Given the description of an element on the screen output the (x, y) to click on. 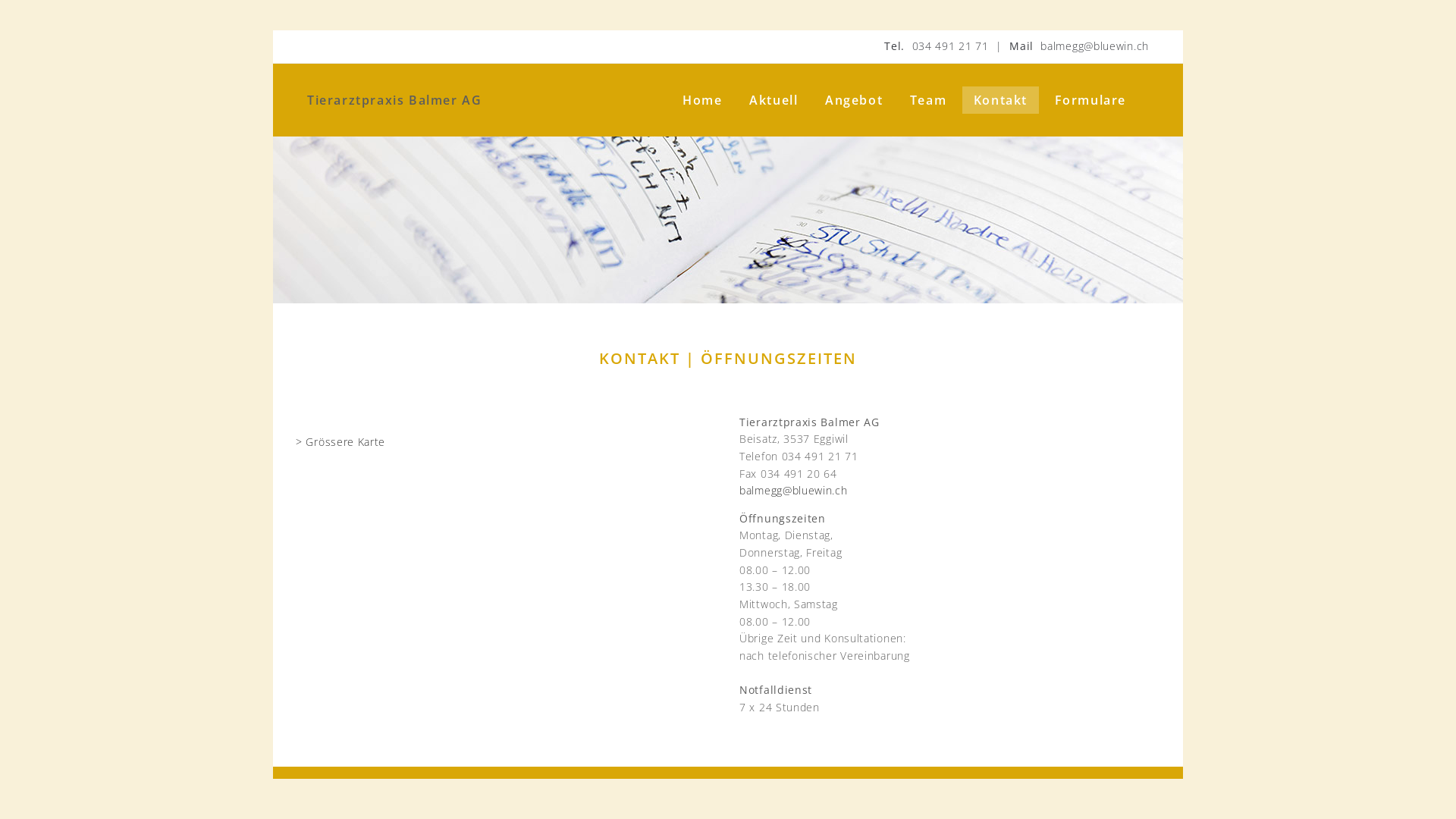
Formulare Element type: text (1090, 99)
Kontakt Element type: text (1000, 99)
Angebot Element type: text (853, 99)
Home Element type: text (702, 99)
Team Element type: text (927, 99)
balmegg@bluewin.ch Element type: text (1094, 45)
Aktuell Element type: text (773, 99)
balmegg@bluewin.ch Element type: text (793, 490)
